Given the description of an element on the screen output the (x, y) to click on. 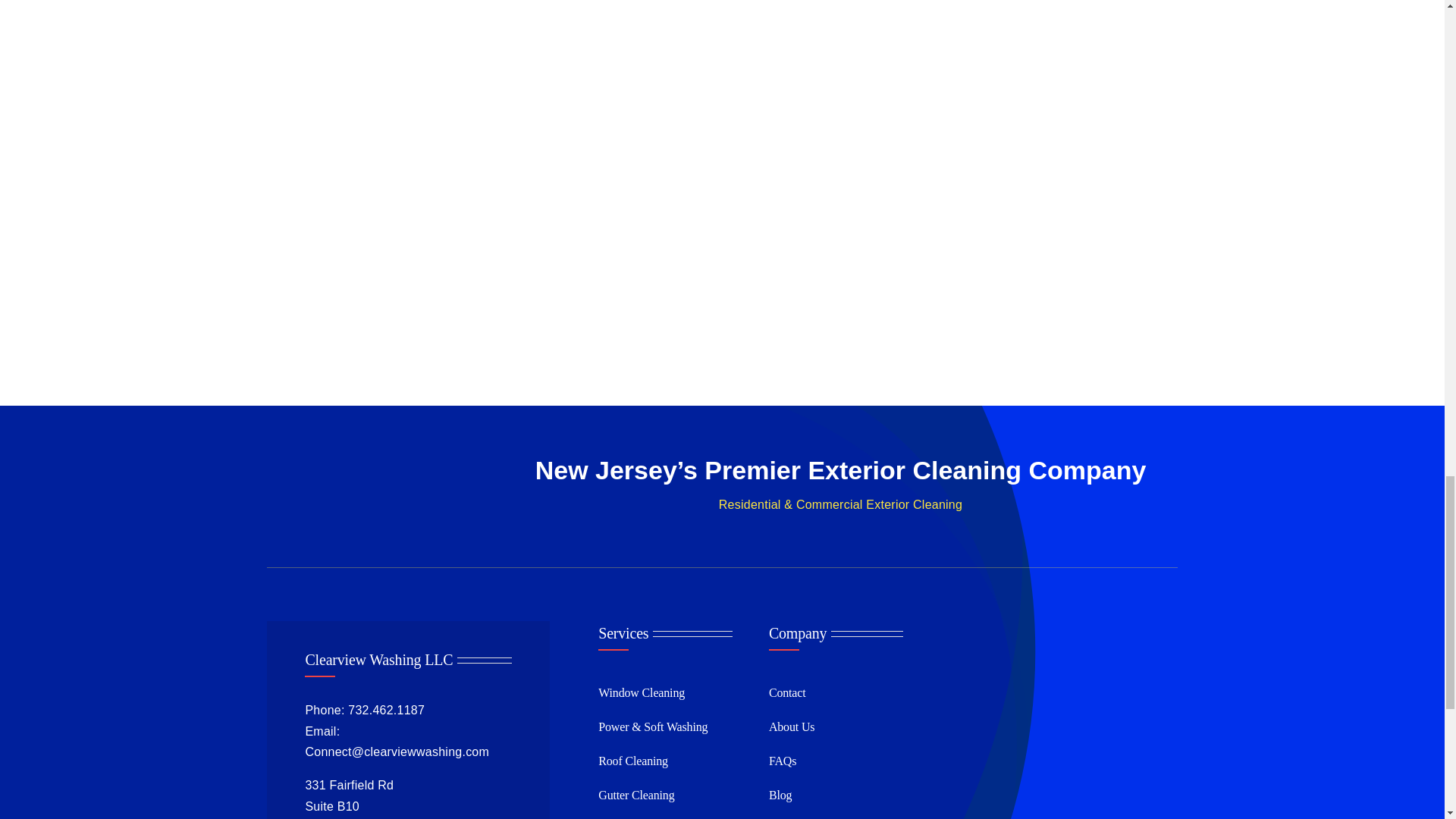
footer-logo (366, 490)
Clearview-Man-3-color-right (1038, 733)
